Given the description of an element on the screen output the (x, y) to click on. 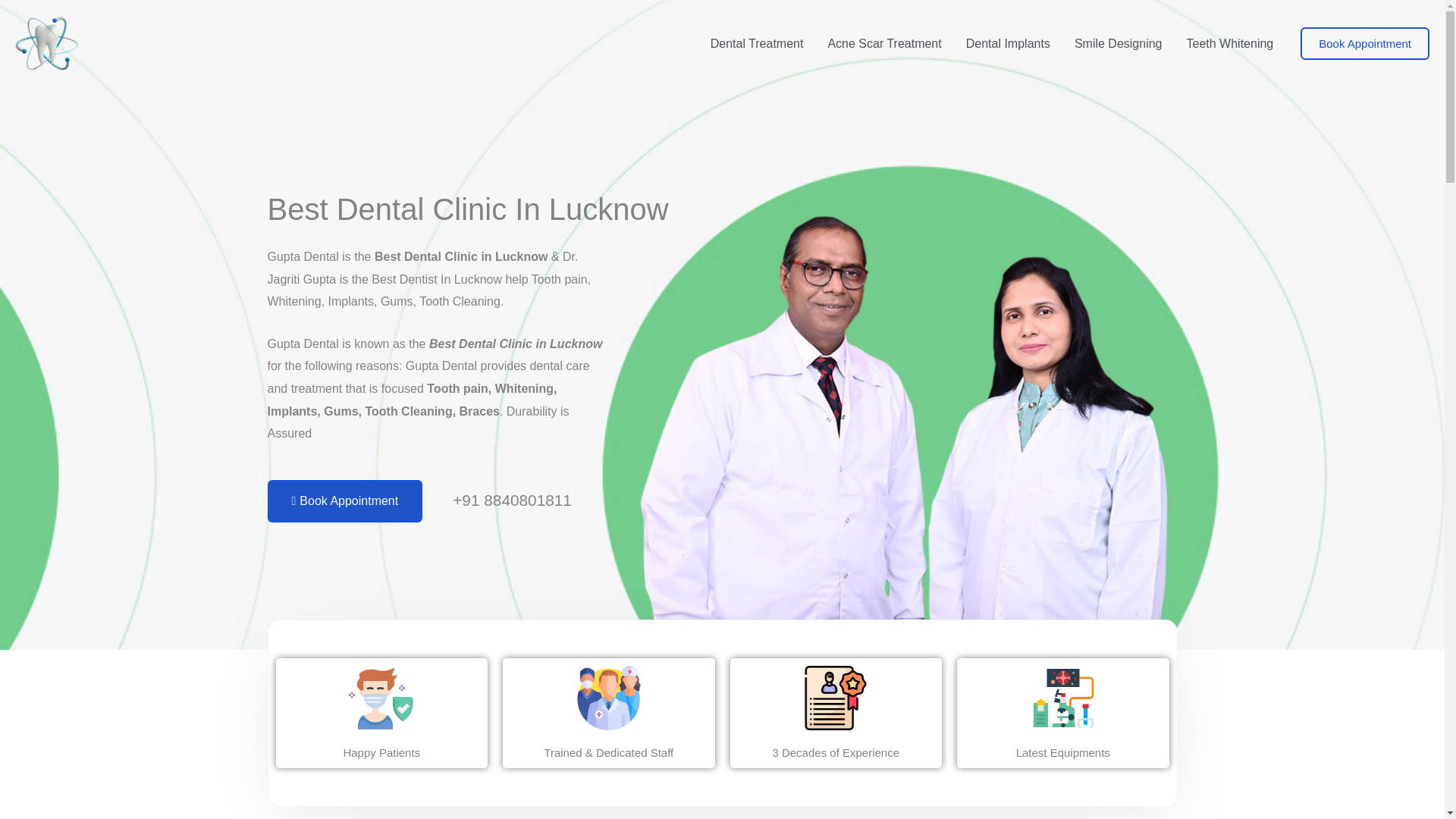
Teeth Whitening (1229, 43)
Dental Treatment (756, 43)
Dental Implants (1007, 43)
Acne Scar Treatment (884, 43)
Smile Designing (1118, 43)
Book Appointment (1364, 43)
Book Appointment (344, 500)
